Given the description of an element on the screen output the (x, y) to click on. 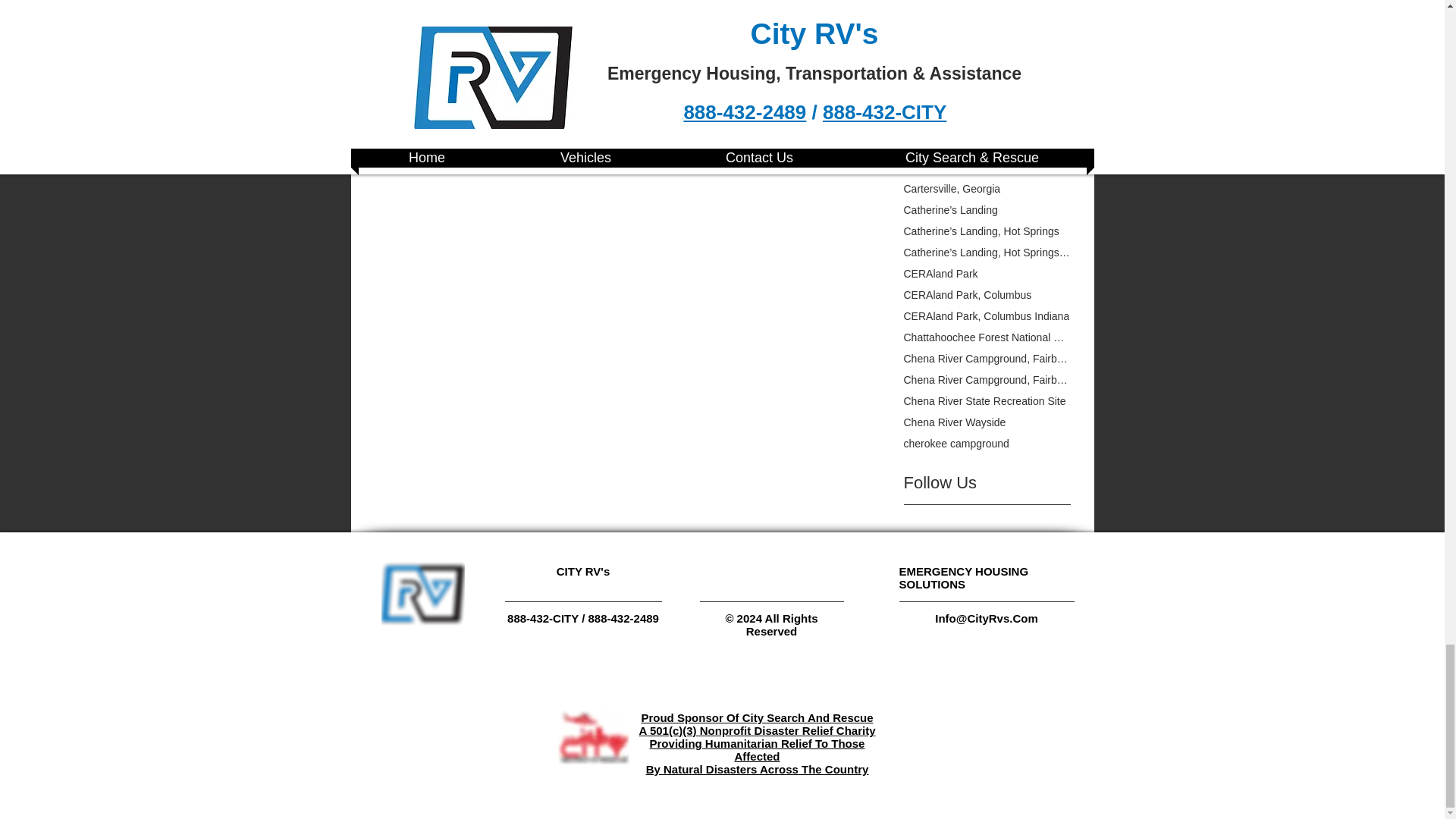
CITY RV RENTALS.png (422, 591)
